Given the description of an element on the screen output the (x, y) to click on. 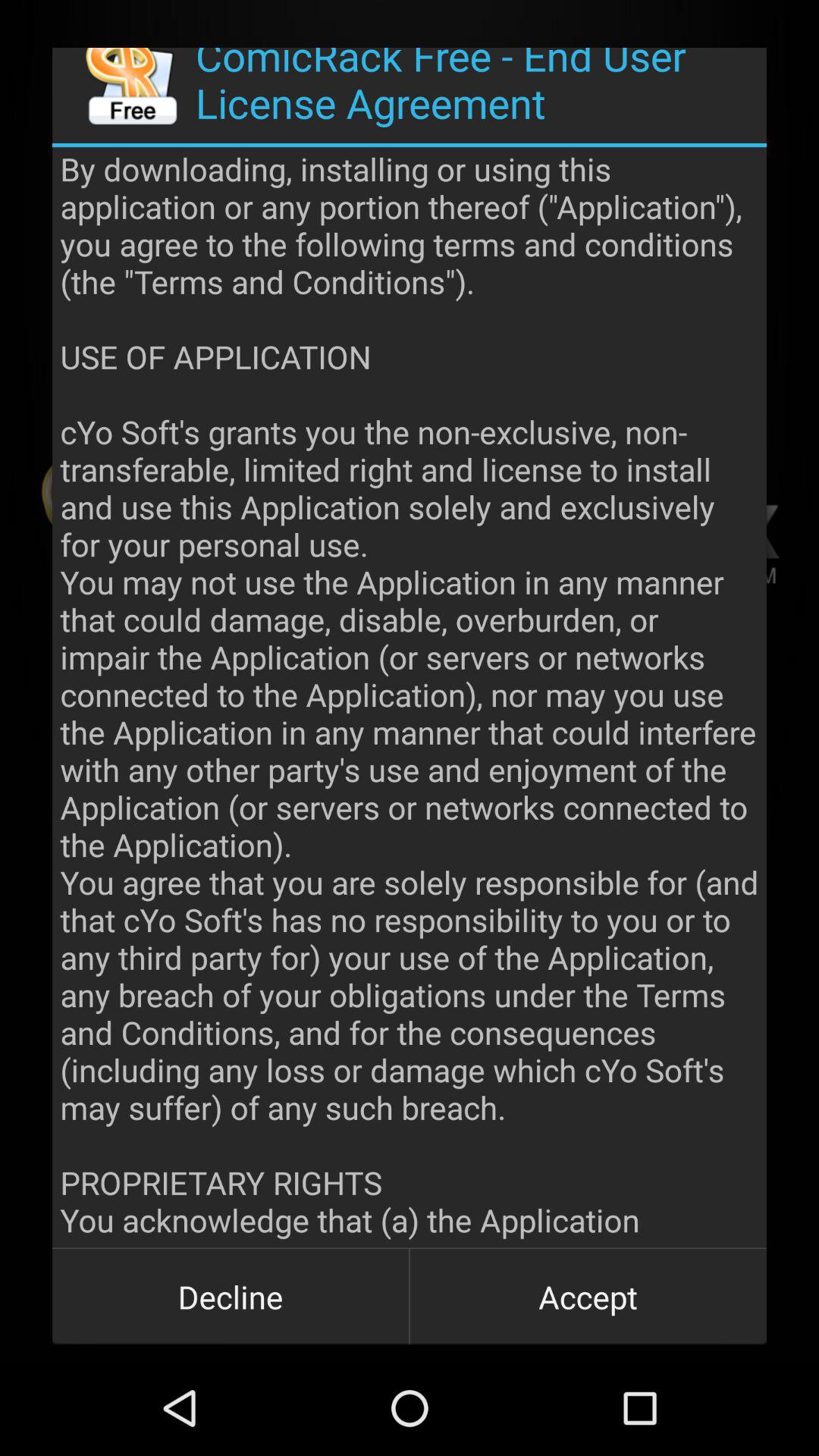
flip to the accept (588, 1296)
